Given the description of an element on the screen output the (x, y) to click on. 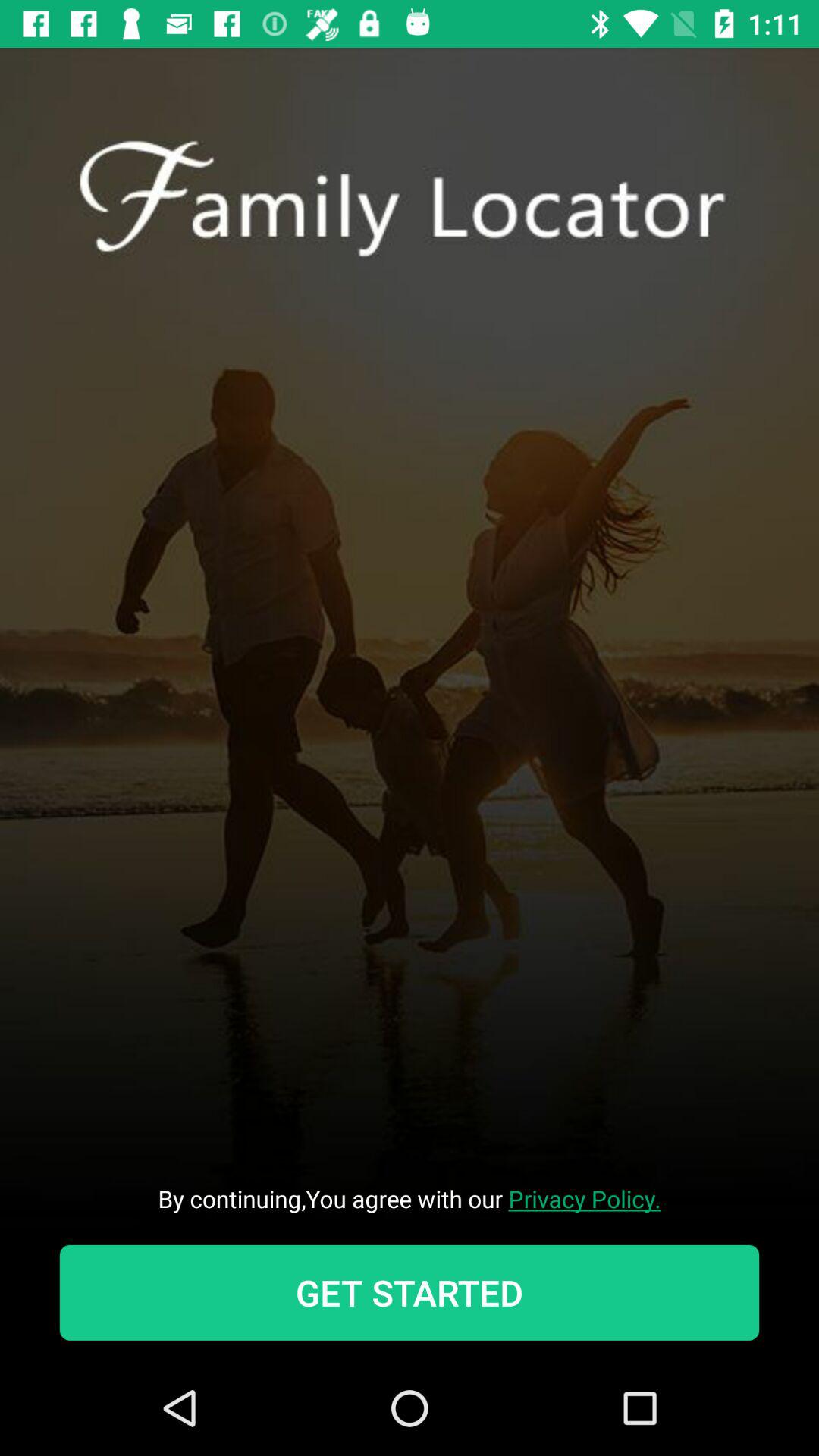
swipe until by continuing you item (409, 1198)
